Given the description of an element on the screen output the (x, y) to click on. 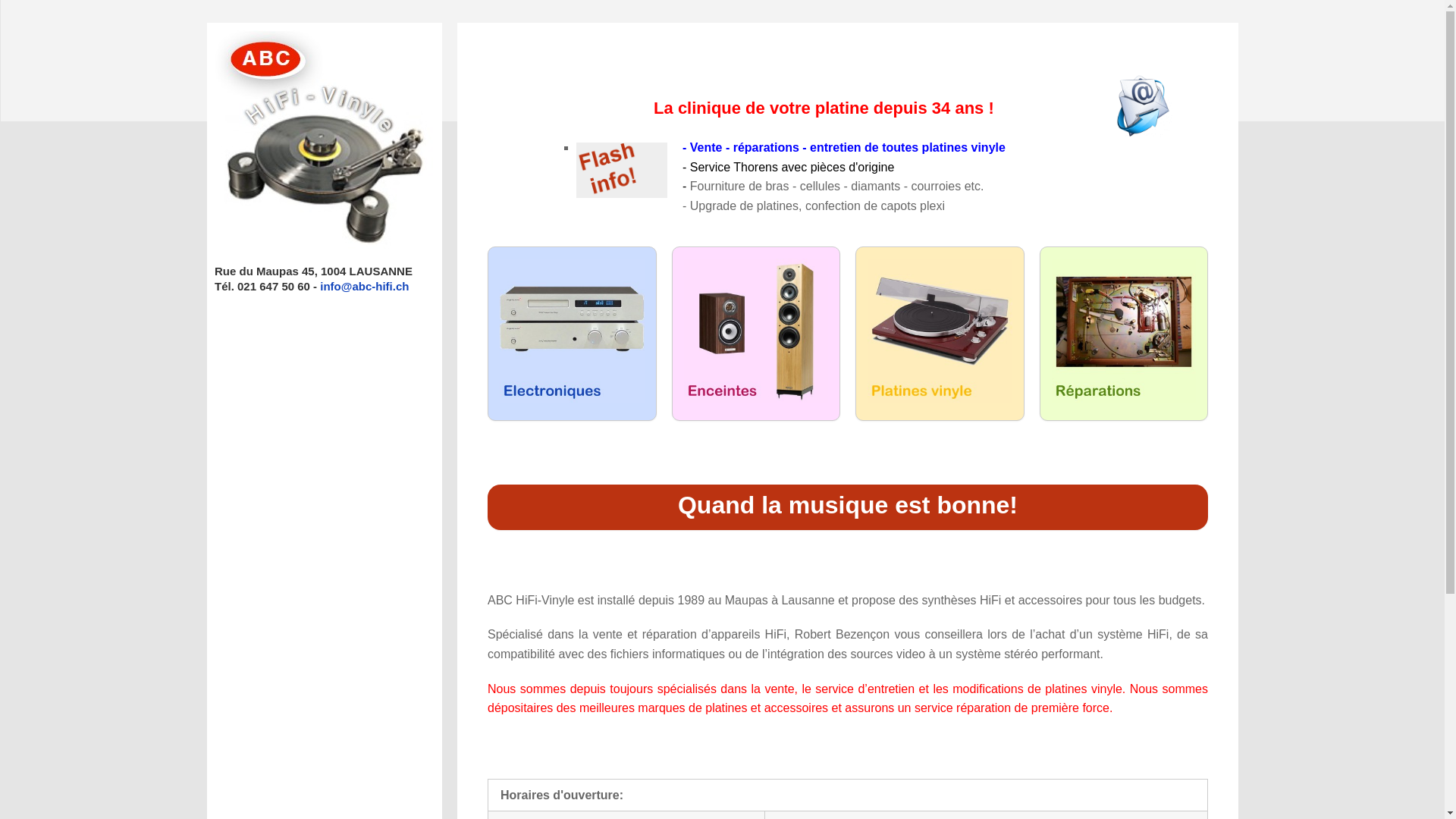
info@abc-hifi.ch Element type: text (364, 285)
ABC HiFi Element type: hover (324, 245)
